Given the description of an element on the screen output the (x, y) to click on. 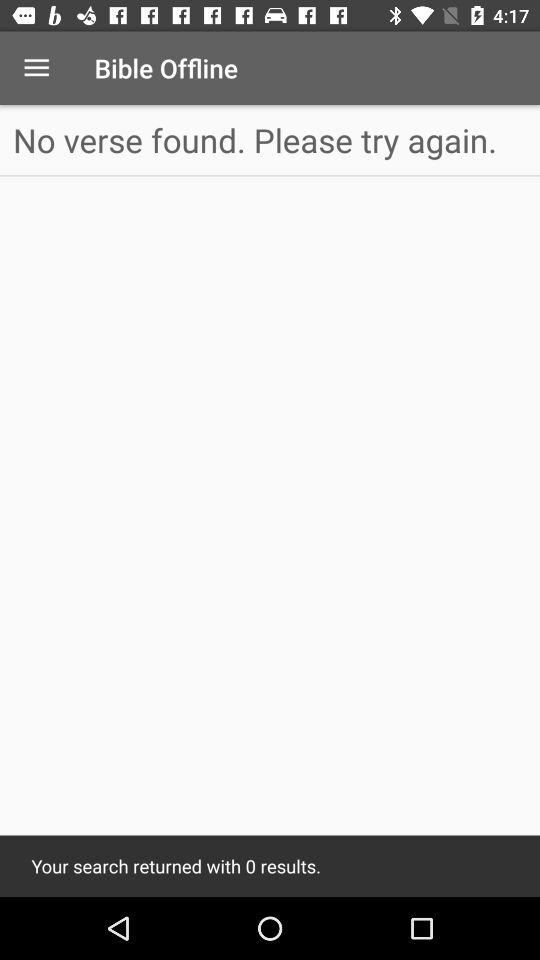
scroll to the no verse found item (270, 140)
